Given the description of an element on the screen output the (x, y) to click on. 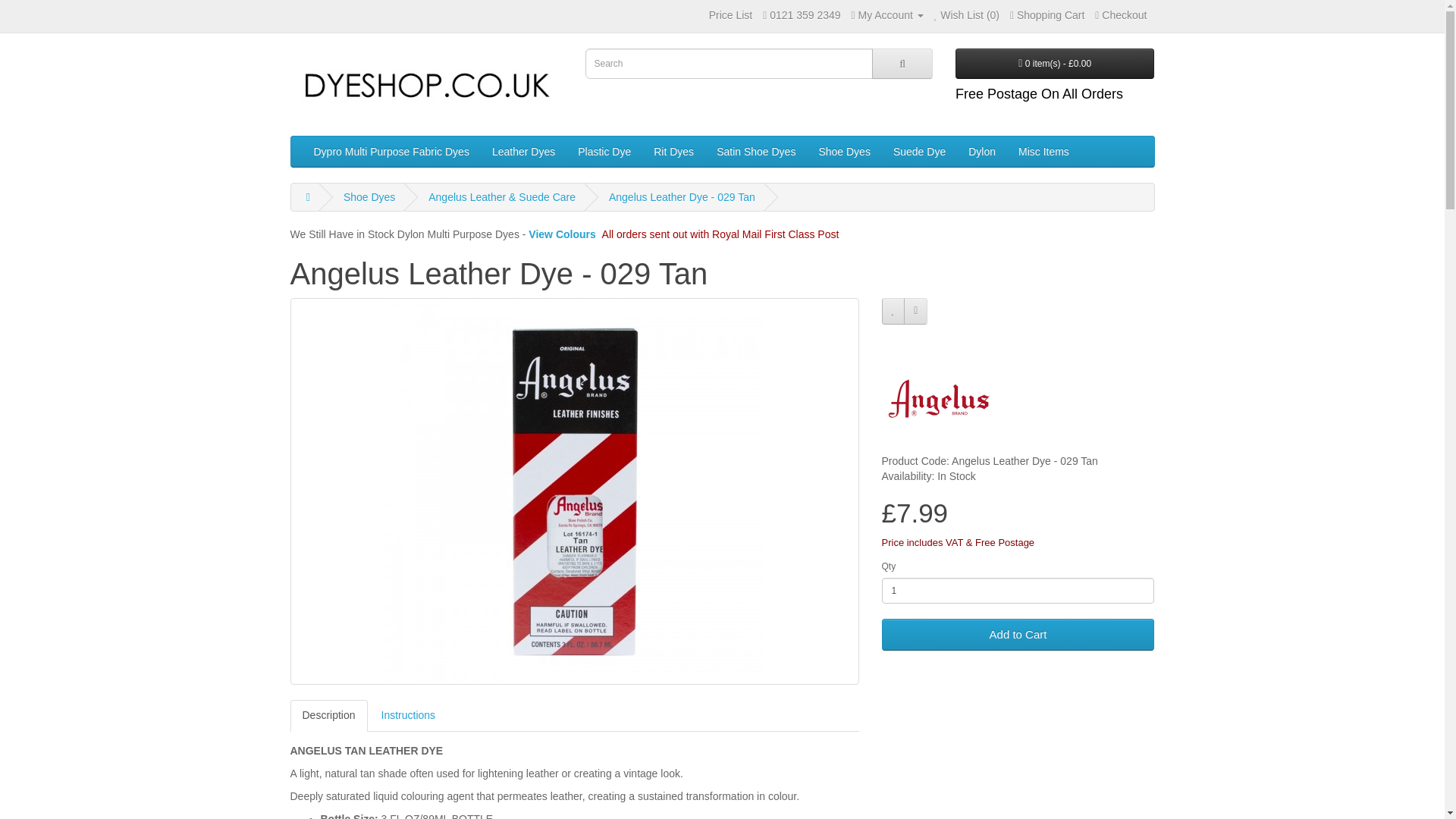
Shoe Dyes (843, 151)
My Account (886, 15)
Dye Shop - Angelus Leather Dye - 029 Tan Leather Shoe Dye (425, 87)
My Account (886, 15)
Checkout (1120, 15)
1 (1017, 590)
Satin Shoe Dyes (755, 151)
Dypro Multi Purpose Fabric Dyes (390, 151)
Checkout (1120, 15)
Rit Dyes (673, 151)
Plastic Dye (604, 151)
Price List (730, 15)
Leather Dyes (523, 151)
